Given the description of an element on the screen output the (x, y) to click on. 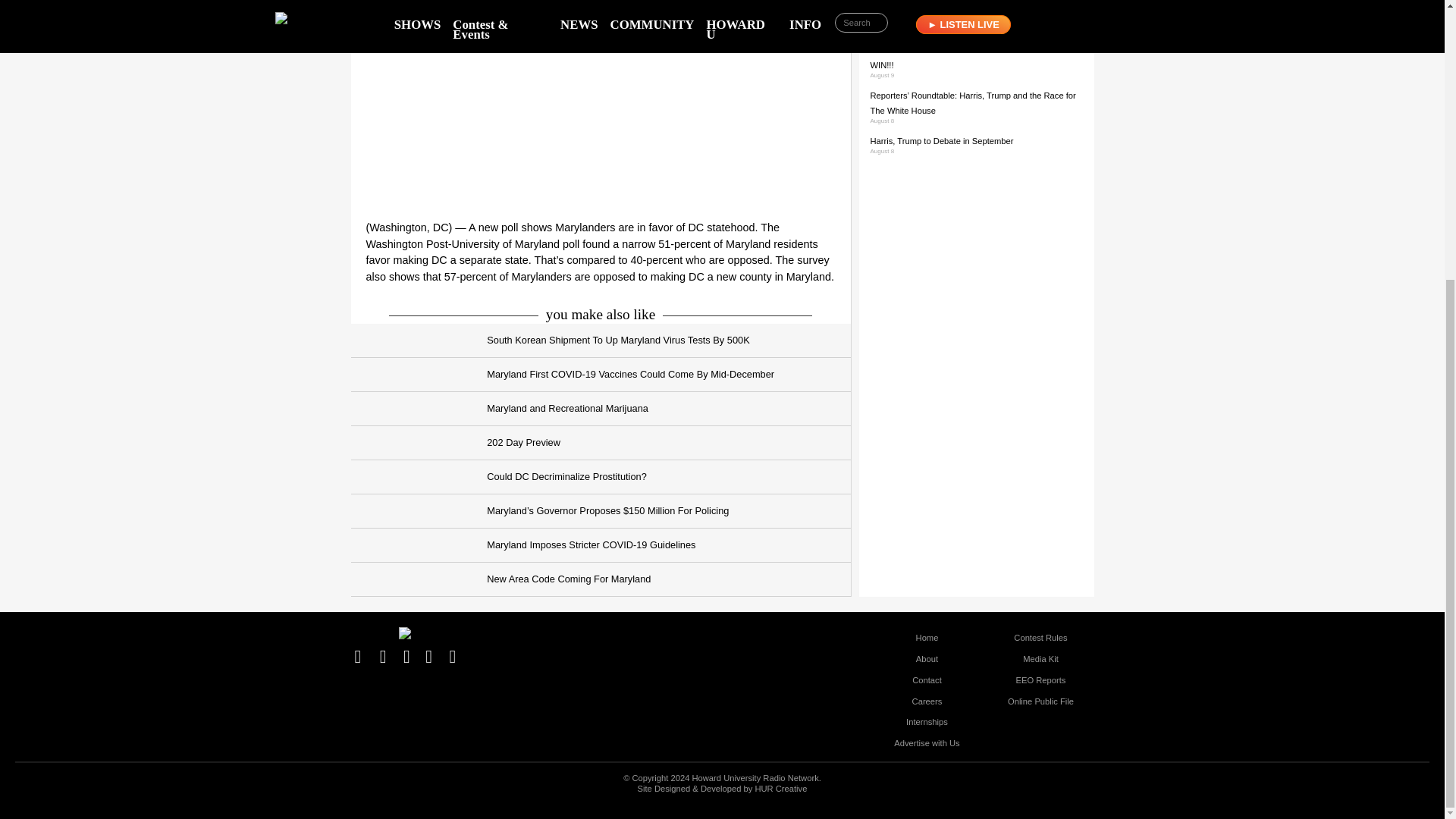
Maryland and Recreational Marijuana (600, 408)
Could DC Decriminalize Prostitution? (600, 477)
Maryland First COVID-19 Vaccines Could Come By Mid-December (600, 374)
Maryland Imposes Stricter COVID-19 Guidelines (600, 545)
New Area Code Coming For Maryland (600, 579)
202 Day Preview (600, 442)
South Korean Shipment To Up Maryland Virus Tests By 500K (600, 340)
